Given the description of an element on the screen output the (x, y) to click on. 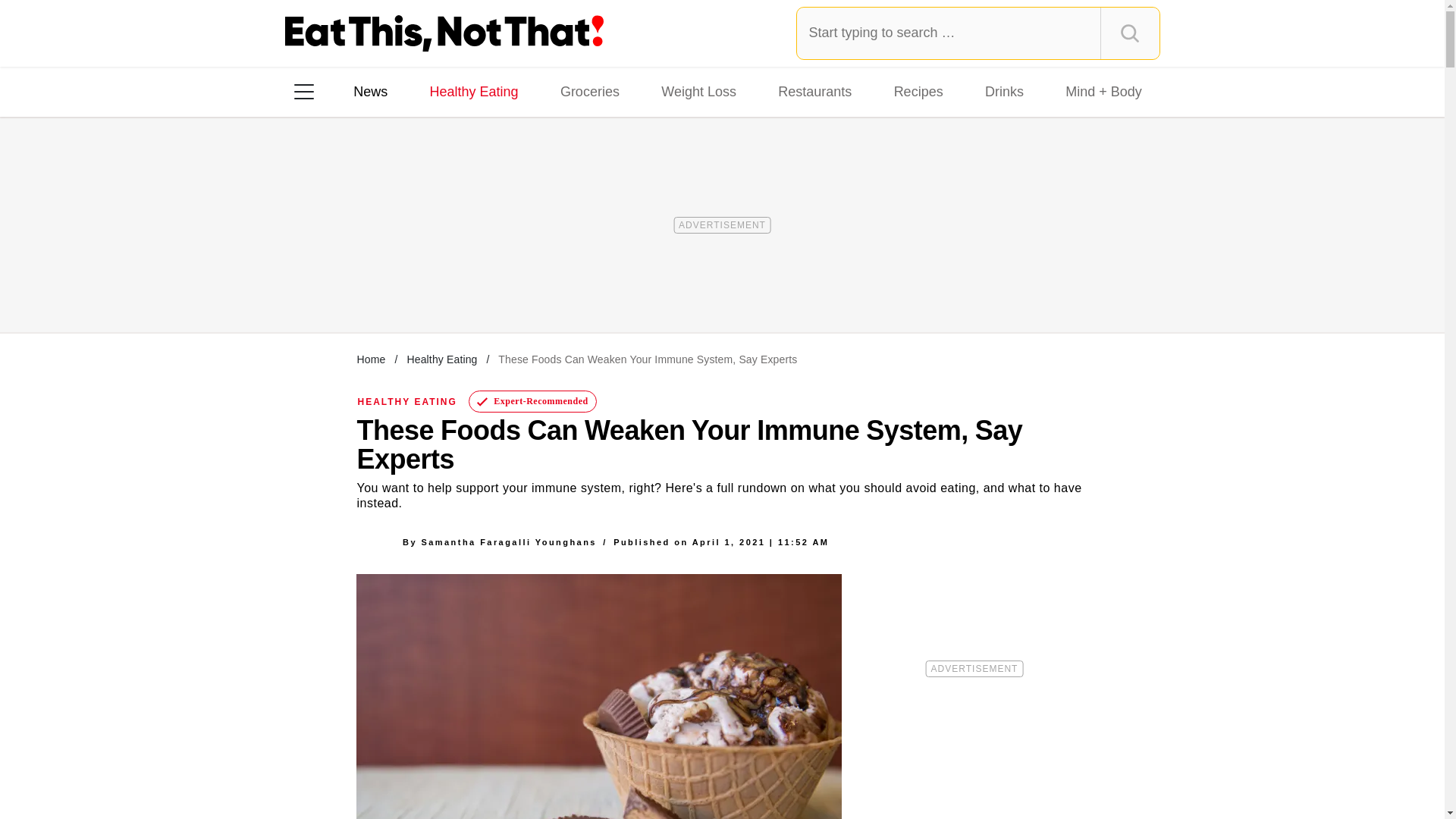
Home (370, 358)
News (370, 91)
Expert-Recommended (532, 401)
Groceries (590, 91)
Facebook (314, 287)
Recipes (918, 91)
Facebook (314, 287)
Instagram (357, 287)
Drinks (1003, 91)
HEALTHY EATING (407, 401)
